Given the description of an element on the screen output the (x, y) to click on. 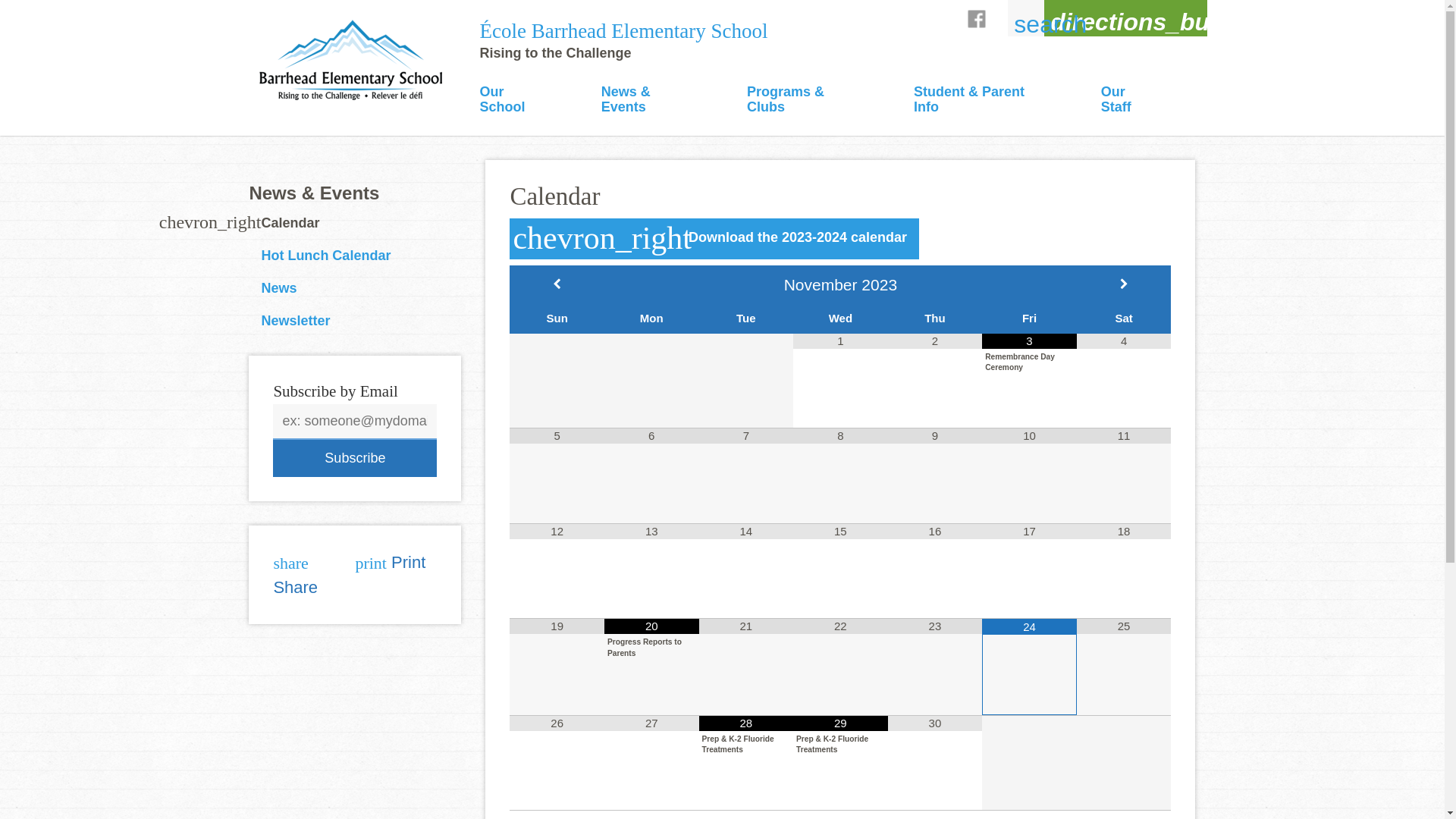
Next Month Element type: hover (1123, 283)
directions_bus Buses On Time Element type: text (1125, 31)
Newsletter Element type: text (294, 320)
Previous Month Element type: hover (556, 283)
Subscribe Element type: text (354, 457)
Download the 2023-2024 calendar Element type: text (714, 238)
print Print Element type: text (395, 561)
Student & Parent Info Element type: text (982, 100)
News & Events Element type: text (649, 100)
Programs & Clubs Element type: text (805, 100)
Hot Lunch Calendar Element type: text (325, 255)
Calendar Element type: text (289, 222)
Our School Element type: text (515, 100)
News & Events Element type: text (313, 192)
Our Staff Element type: text (1130, 100)
News Element type: text (278, 287)
